Given the description of an element on the screen output the (x, y) to click on. 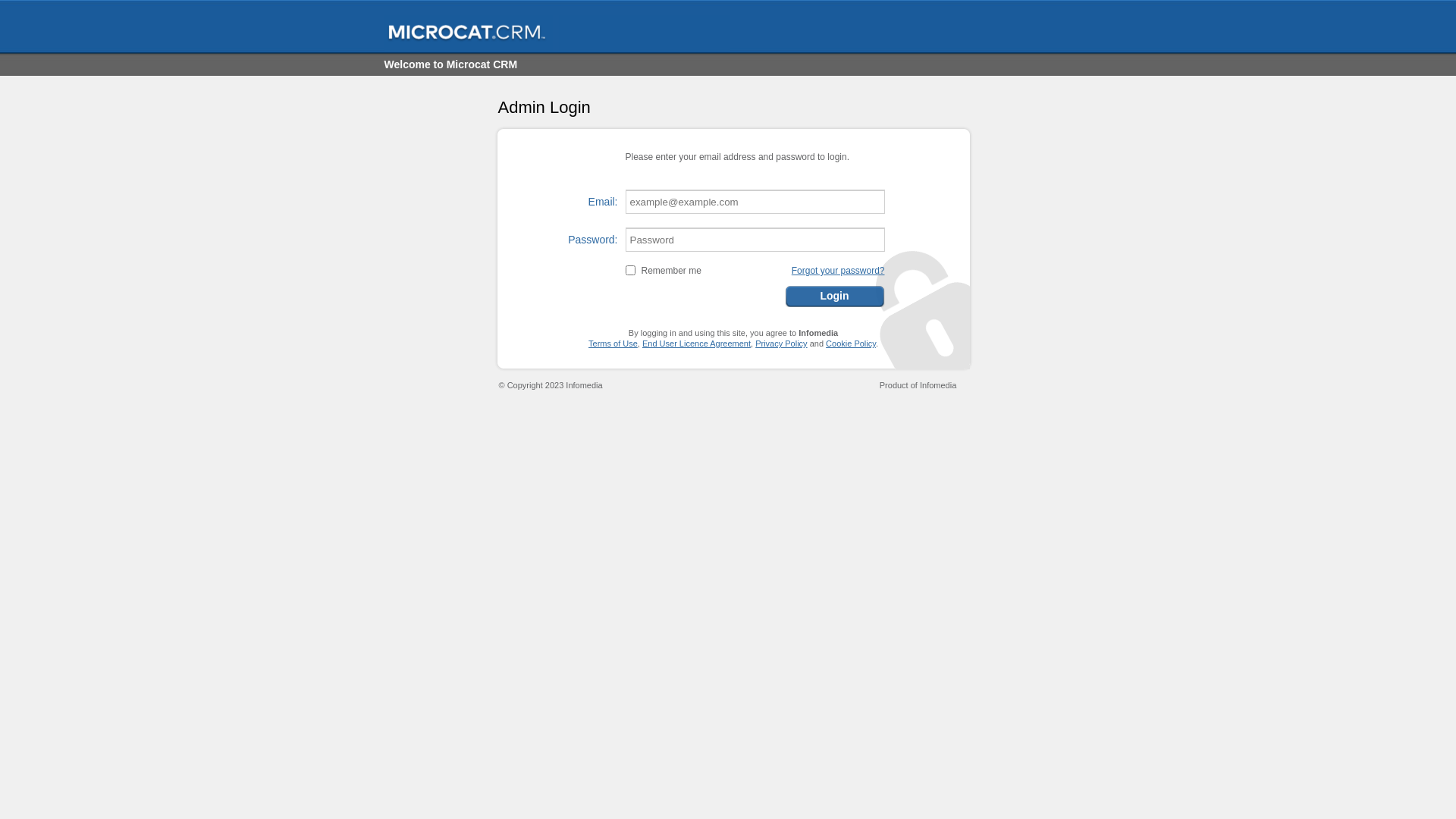
Privacy Policy Element type: text (780, 343)
Terms of Use Element type: text (612, 343)
End User Licence Agreement Element type: text (696, 343)
Forgot your password? Element type: text (837, 270)
Cookie Policy Element type: text (850, 343)
Infomedia Element type: text (936, 384)
Login Element type: text (834, 295)
